Given the description of an element on the screen output the (x, y) to click on. 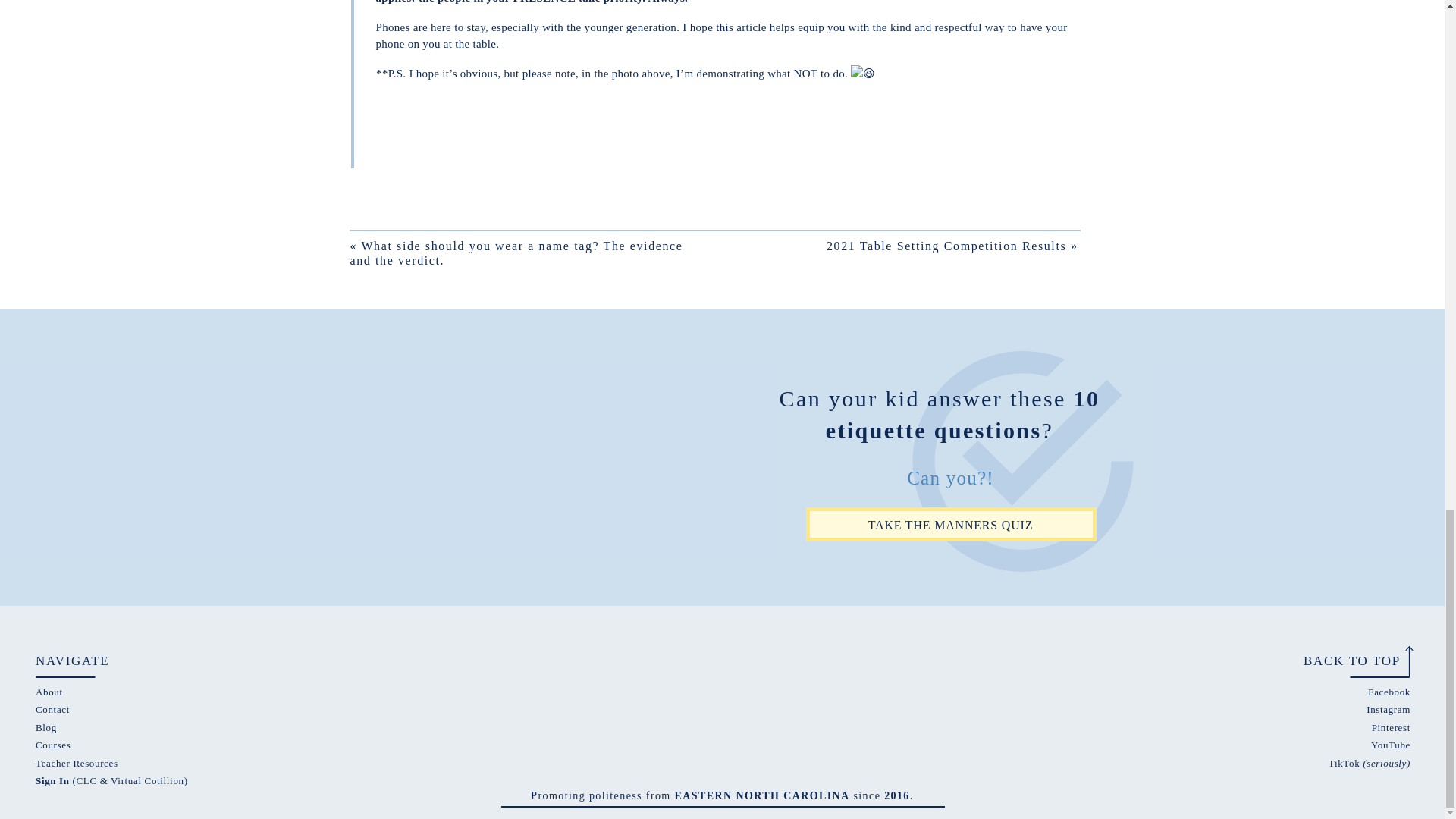
Blog (45, 727)
Teacher Resources (75, 763)
About (48, 691)
Contact (51, 708)
BACK TO TOP (1343, 660)
2021 Table Setting Competition Results (946, 245)
Courses (51, 745)
TAKE THE MANNERS QUIZ (949, 524)
